Given the description of an element on the screen output the (x, y) to click on. 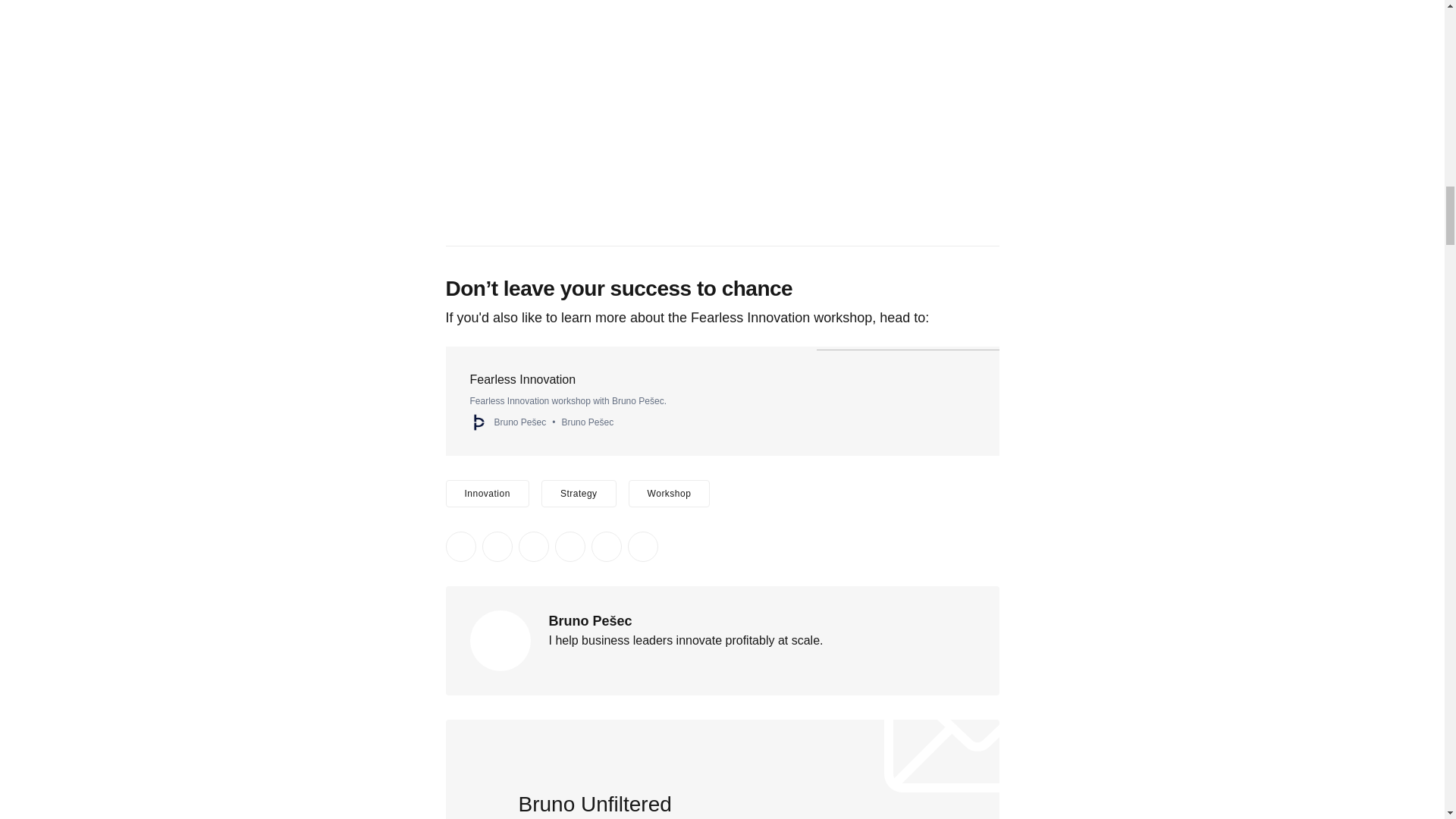
Copy link (642, 546)
Share on Twitter (460, 546)
Share on Facebook (496, 546)
Innovation (487, 492)
How many times have you comitted murder? (721, 113)
Share via Email (606, 546)
Workshop (669, 492)
Share on LinkedIn (533, 546)
Share on Pinterest (569, 546)
Strategy (578, 492)
